Given the description of an element on the screen output the (x, y) to click on. 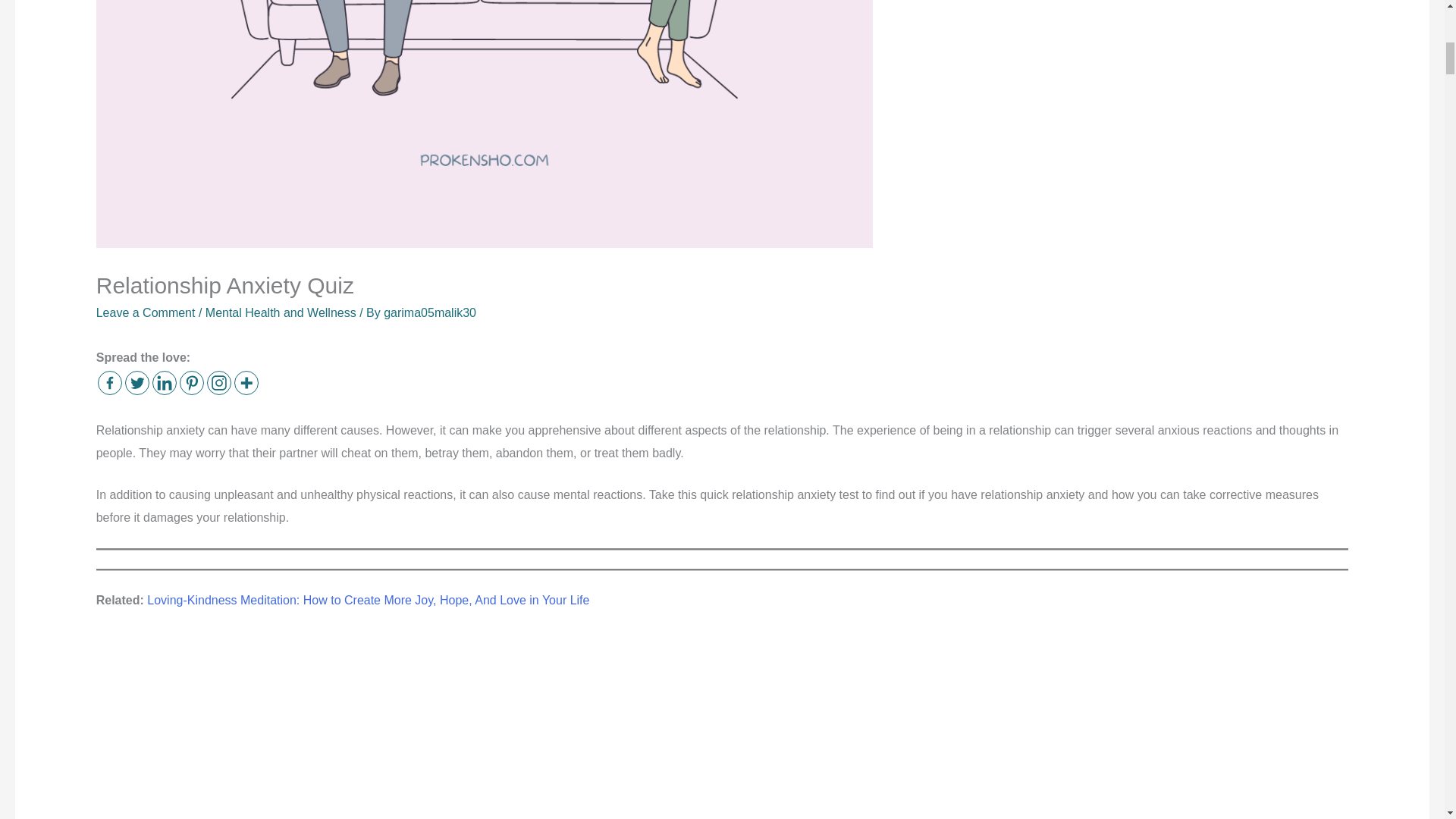
Linkedin (164, 382)
More (246, 382)
Facebook (109, 382)
Instagram (218, 382)
Pinterest (191, 382)
Twitter (137, 382)
View all posts by garima05malik30 (430, 312)
